Given the description of an element on the screen output the (x, y) to click on. 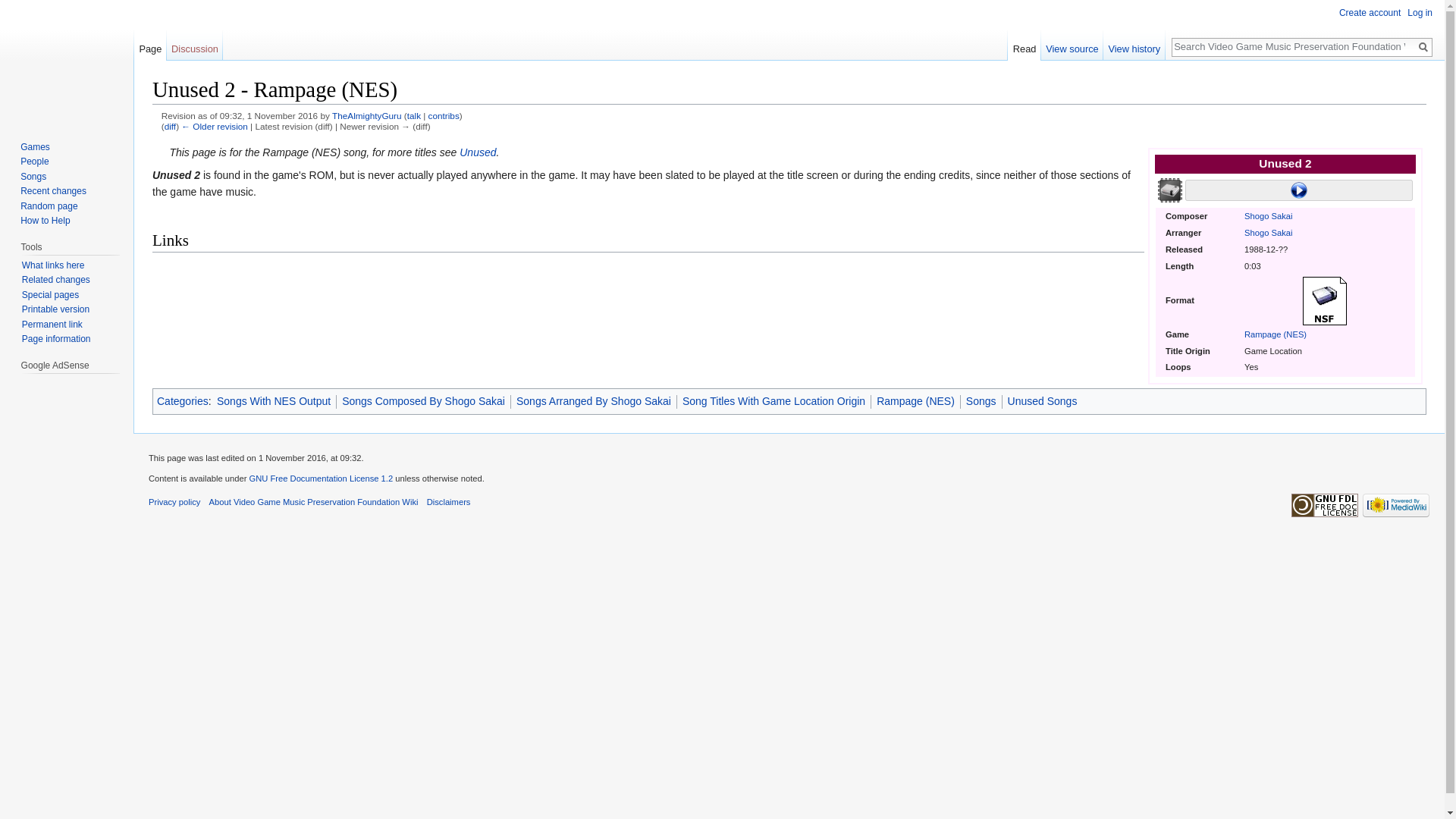
NSF (1324, 299)
Go (1423, 46)
Special:Categories (182, 400)
Recent changes (52, 190)
Unused (478, 152)
Songs (33, 176)
Page (150, 45)
Songs Arranged By Shogo Sakai (593, 400)
Category:Songs With NES Output (273, 400)
Categories (182, 400)
Play sound (1298, 189)
User:TheAlmightyGuru (366, 115)
Go (1423, 46)
diff (170, 126)
Shogo Sakai (1268, 215)
